Given the description of an element on the screen output the (x, y) to click on. 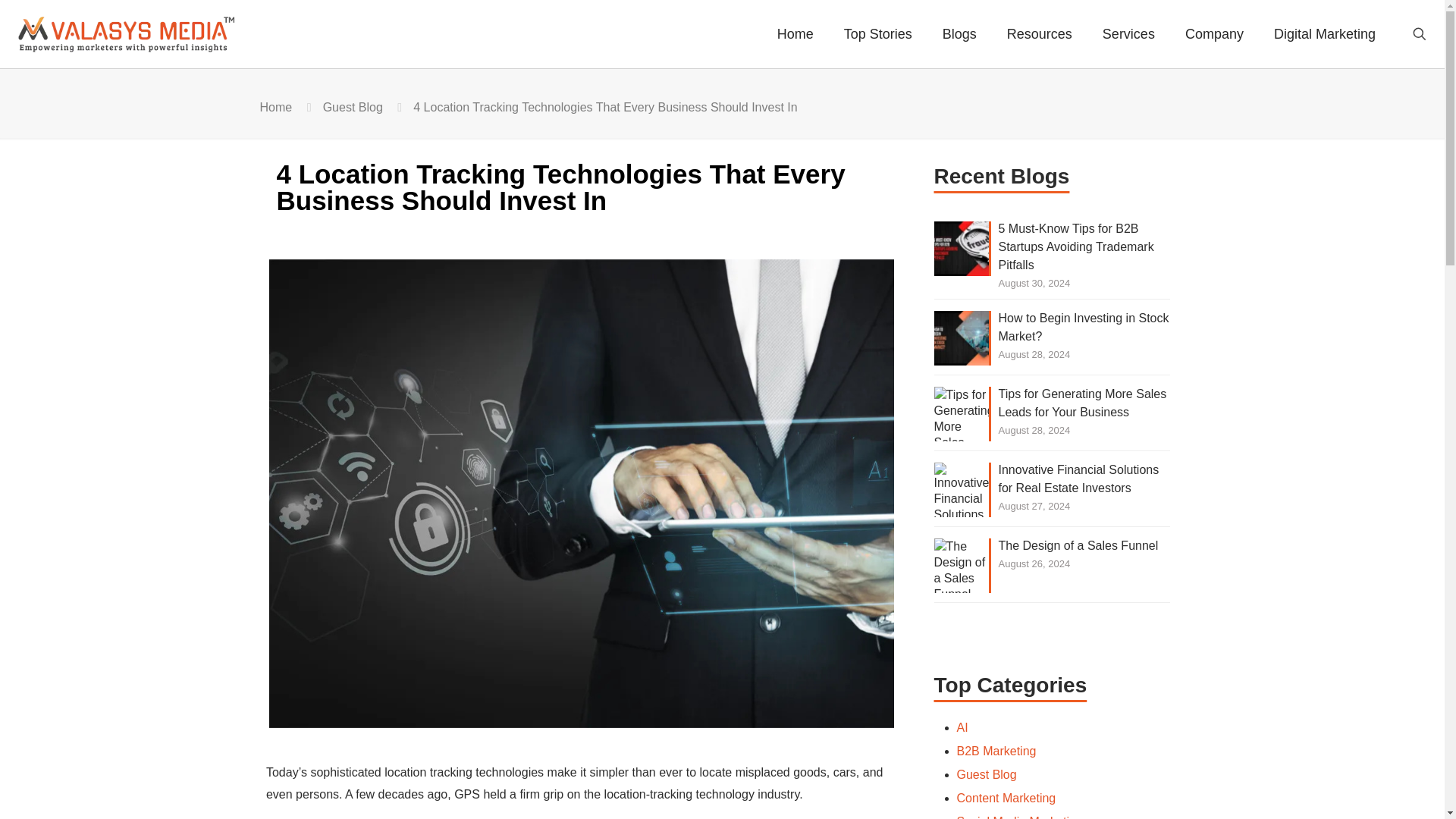
Company (1214, 33)
Top Stories (877, 33)
Home (275, 106)
Digital Marketing (1324, 33)
Blogs (959, 33)
Guest Blog (352, 106)
Home (794, 33)
Resources (1039, 33)
Services (1128, 33)
